Given the description of an element on the screen output the (x, y) to click on. 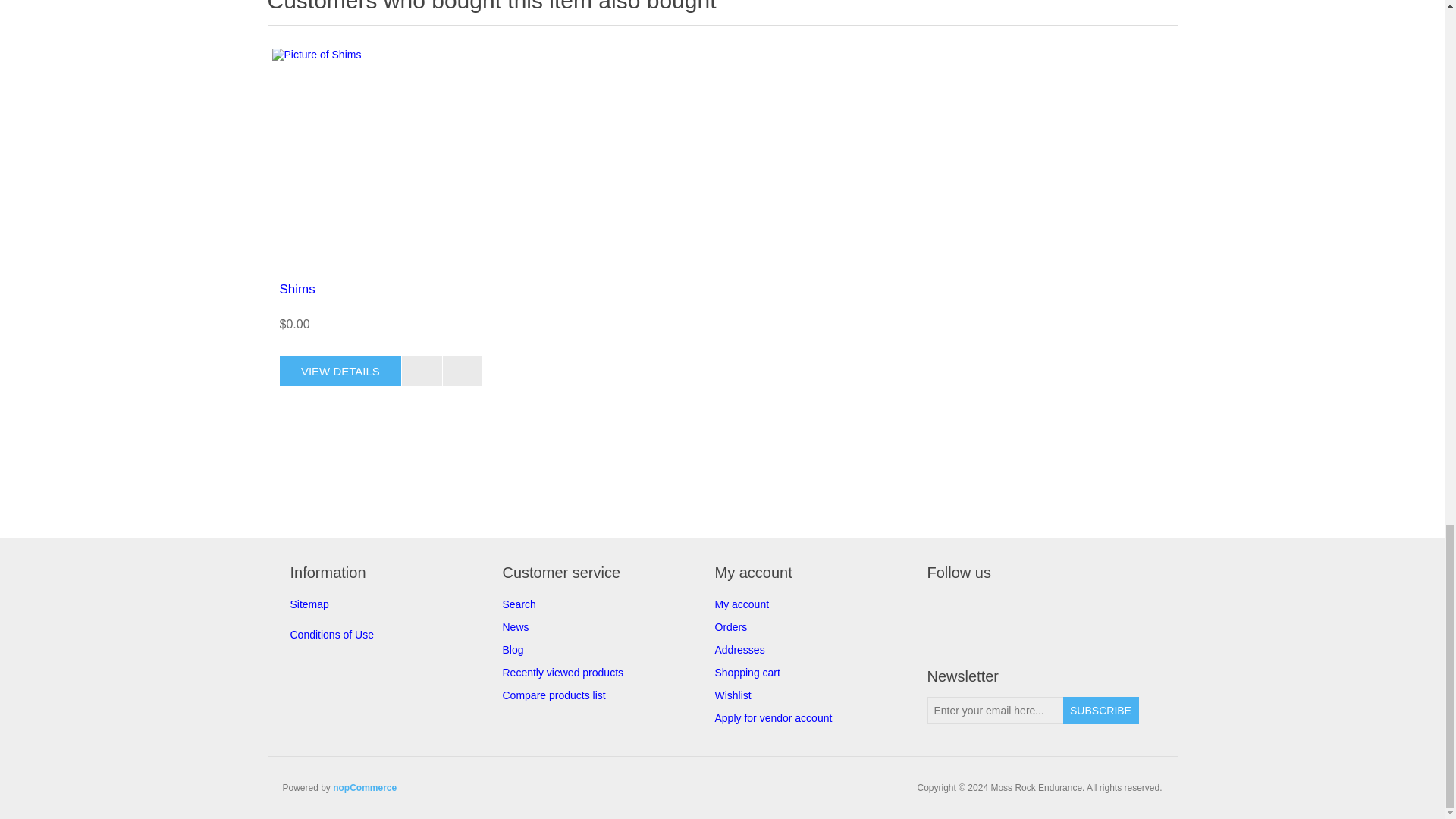
Add to wishlist (462, 370)
Show details for Shims (379, 157)
Add to wishlist (462, 370)
View Details (340, 370)
Add to compare list (421, 370)
Add to compare list (421, 370)
Subscribe (1100, 709)
